Given the description of an element on the screen output the (x, y) to click on. 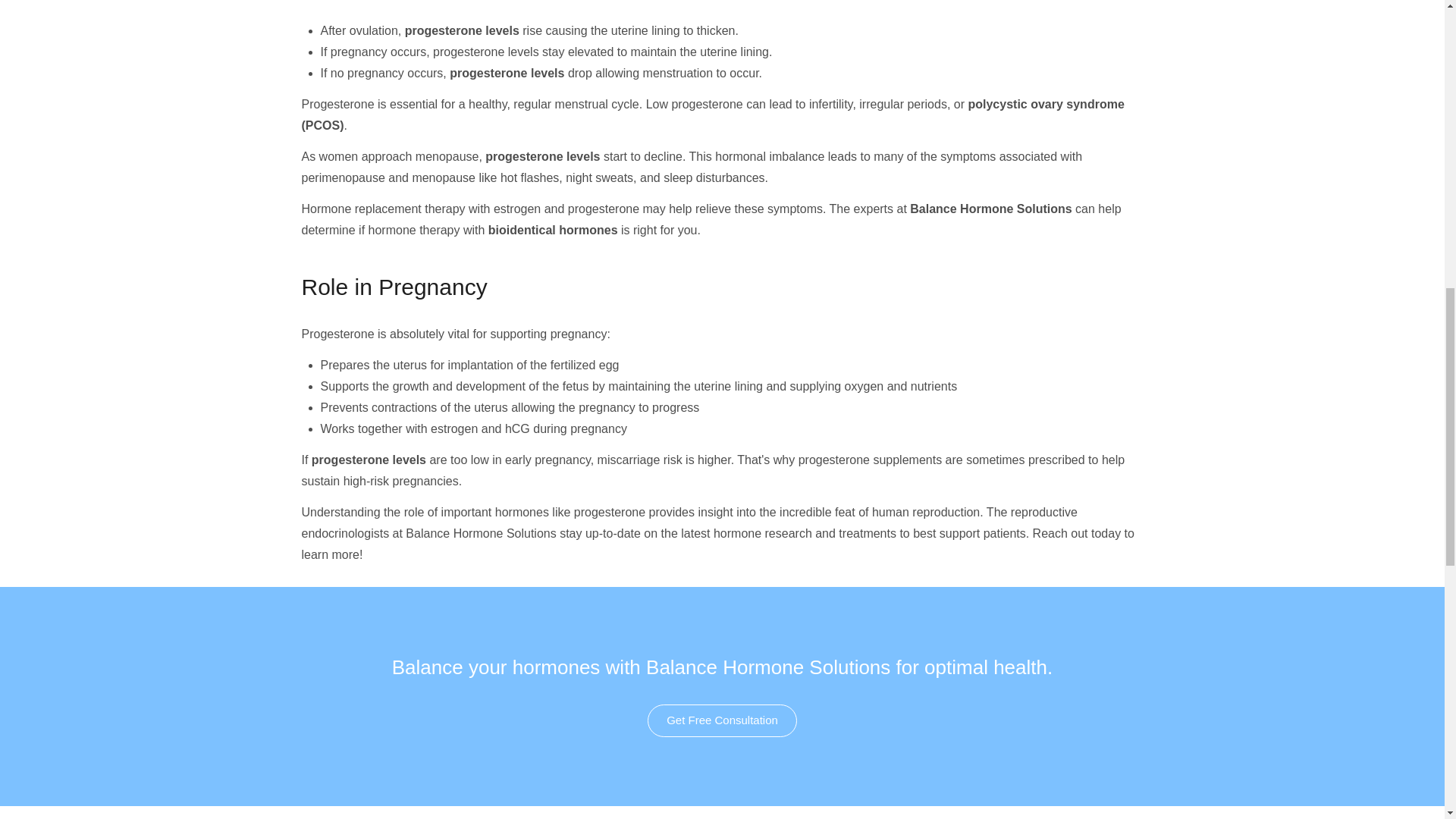
Get Free Consultation (721, 720)
